Given the description of an element on the screen output the (x, y) to click on. 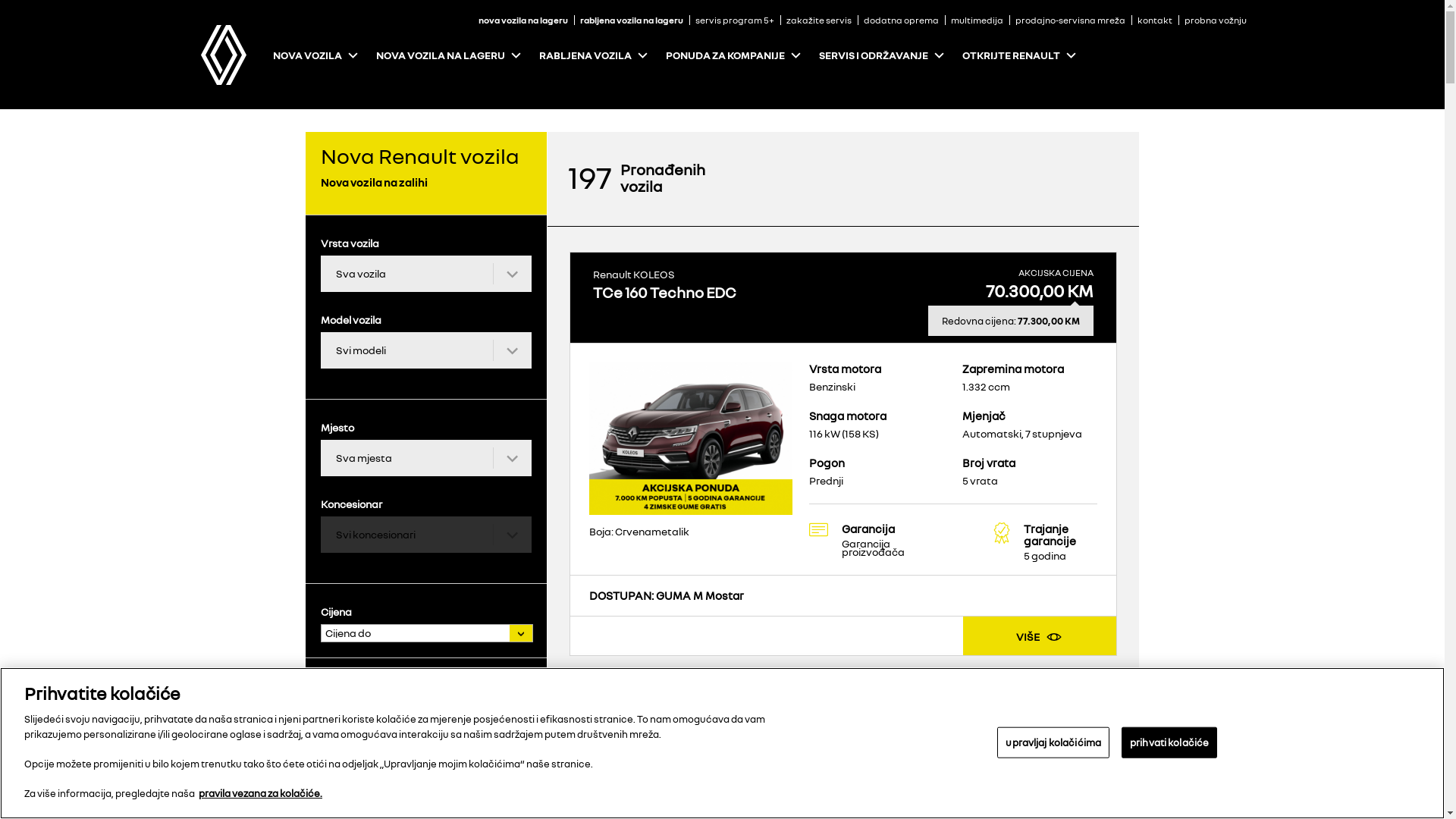
nova vozila na lageru Element type: text (522, 20)
Renault Bosna i Hercegovina Element type: hover (222, 52)
servis program 5+ Element type: text (734, 20)
dodatna oprema Element type: text (900, 20)
PONUDA ZA KOMPANIJE Element type: text (724, 54)
OTKRIJTE RENAULT Element type: text (1010, 54)
RABLJENA VOZILA Element type: text (584, 54)
NOVA VOZILA Element type: text (307, 54)
NOVA VOZILA NA LAGERU Element type: text (440, 54)
rabljena vozila na lageru Element type: text (631, 20)
multimedija Element type: text (976, 20)
kontakt Element type: text (1154, 20)
Motor Element type: text (425, 682)
